Given the description of an element on the screen output the (x, y) to click on. 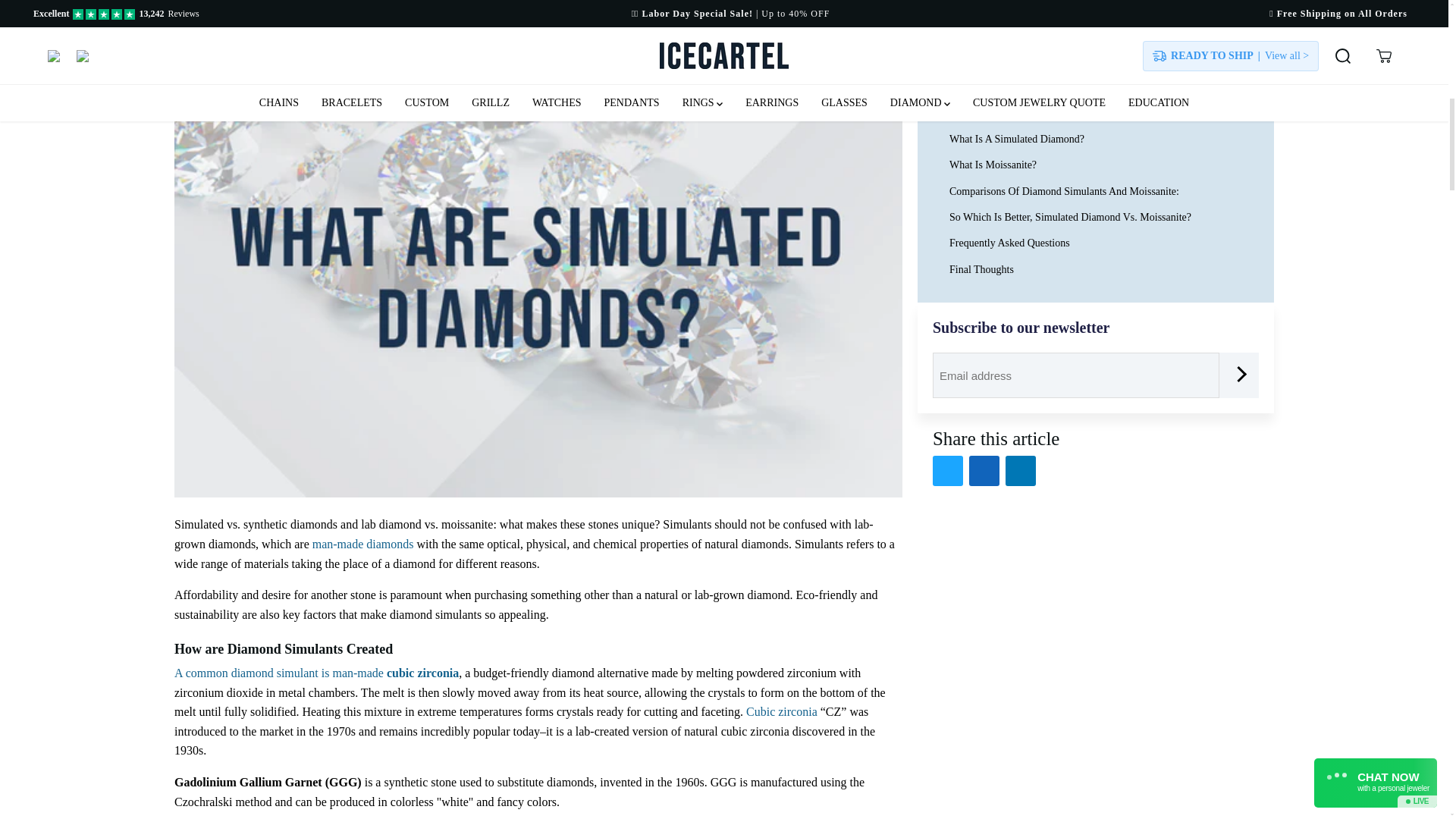
What is a Diamond Simulant? (363, 543)
How are Diamond Simulants Created? (316, 672)
Wikipedia, Cubic Zirconia composition (780, 711)
